Given the description of an element on the screen output the (x, y) to click on. 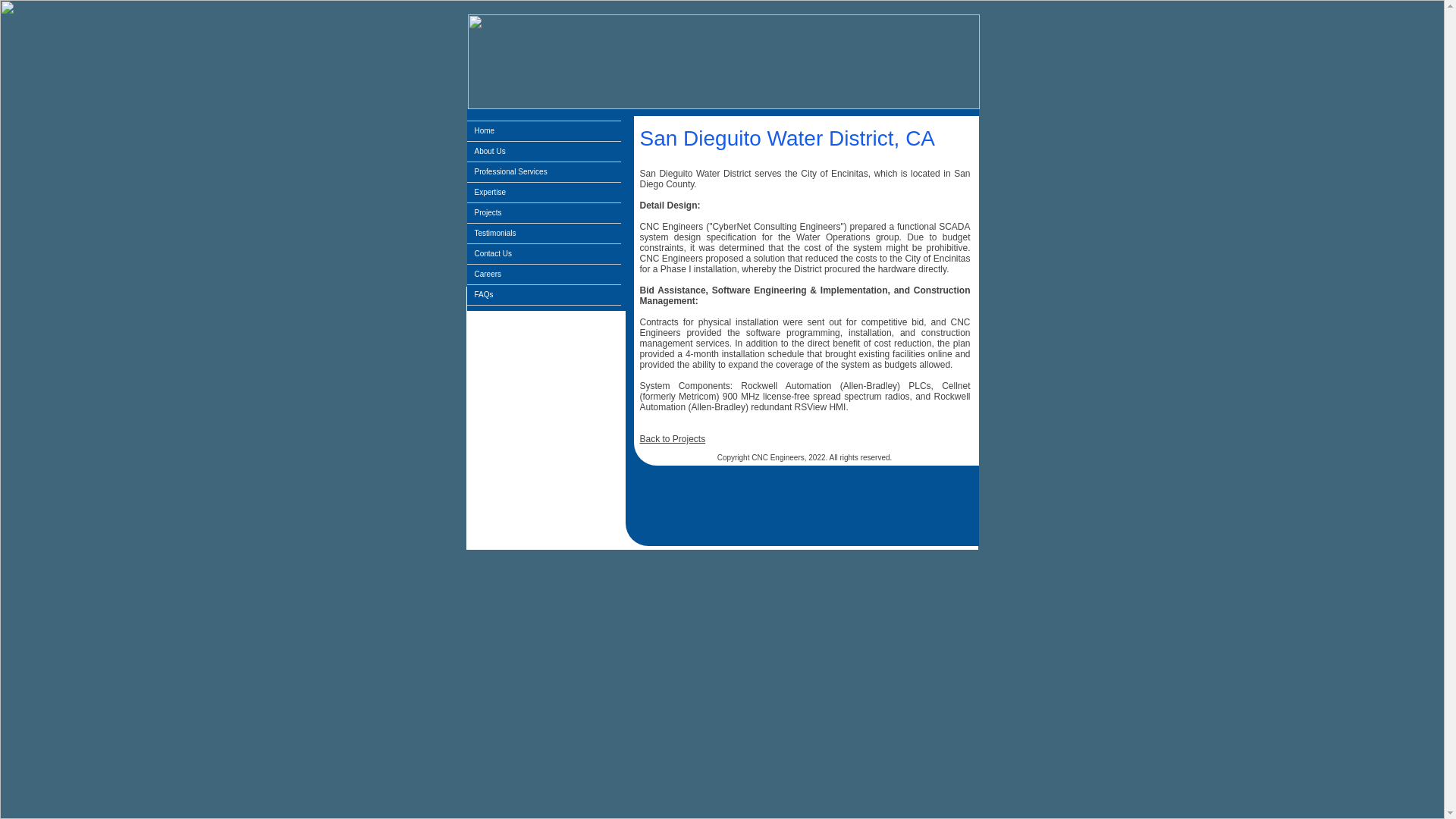
Contact Us (544, 253)
Expertise (544, 192)
Home (544, 130)
About Us (544, 151)
Careers (544, 274)
Projects (544, 212)
Back to Projects (673, 439)
Professional Services (544, 171)
Testimonials (544, 233)
FAQs (544, 294)
